Given the description of an element on the screen output the (x, y) to click on. 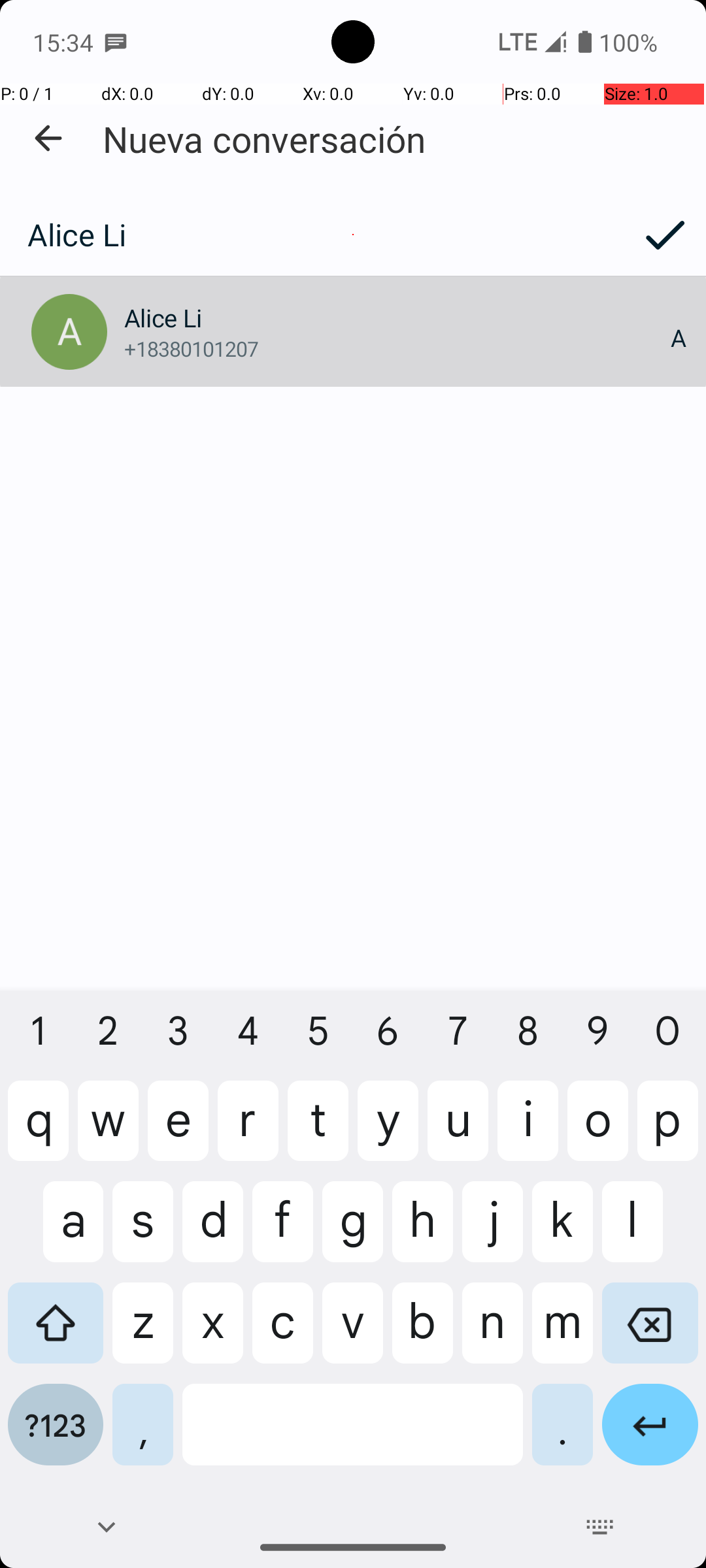
Atrás Element type: android.widget.ImageButton (48, 138)
Nueva conversación Element type: android.widget.TextView (263, 138)
Alice Li Element type: android.widget.EditText (311, 234)
+18380101207 Element type: android.widget.TextView (397, 348)
